Given the description of an element on the screen output the (x, y) to click on. 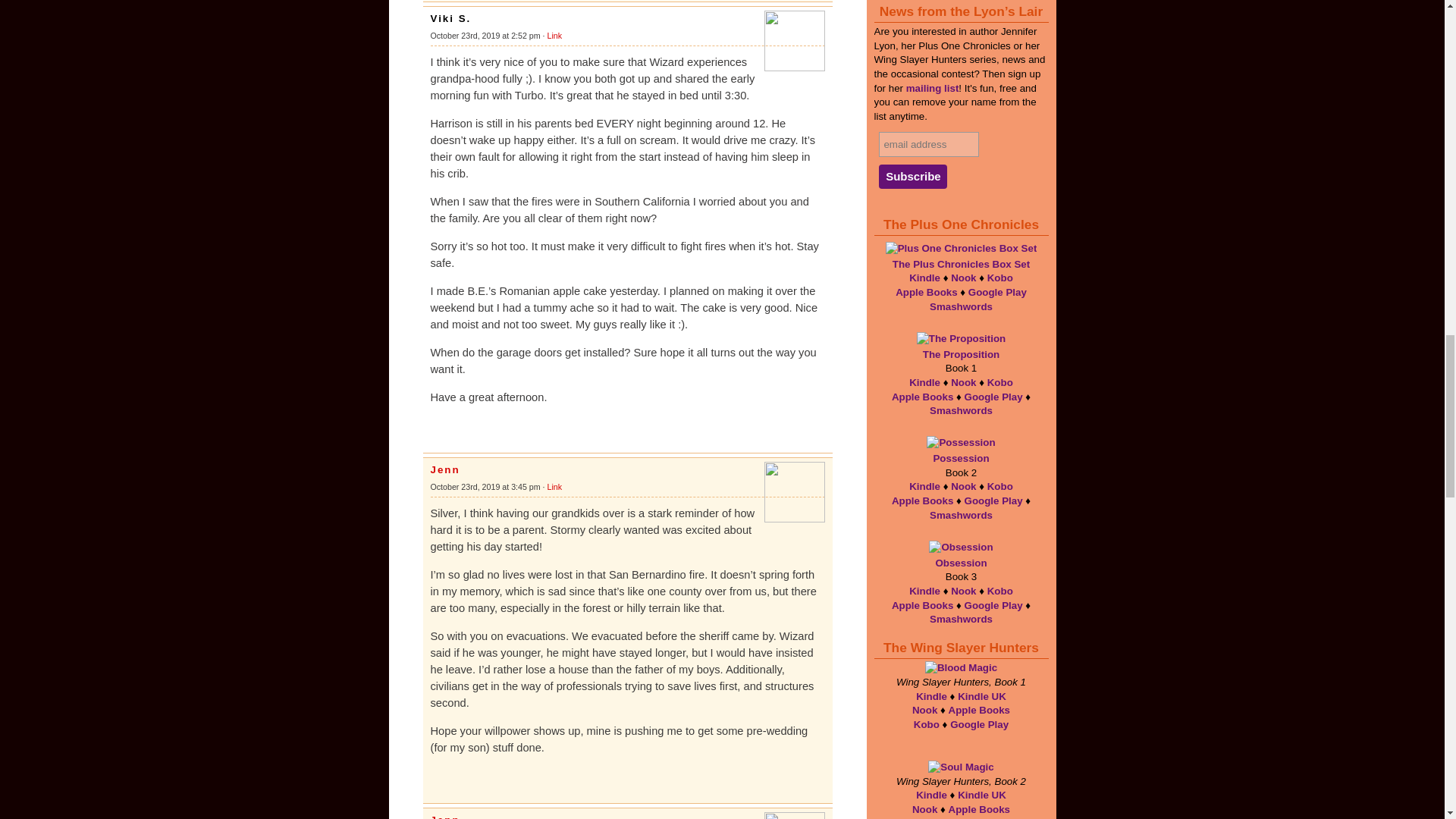
Subscribe (913, 176)
Jenn (445, 469)
Link (554, 486)
Jenn (445, 816)
Link (554, 35)
